Given the description of an element on the screen output the (x, y) to click on. 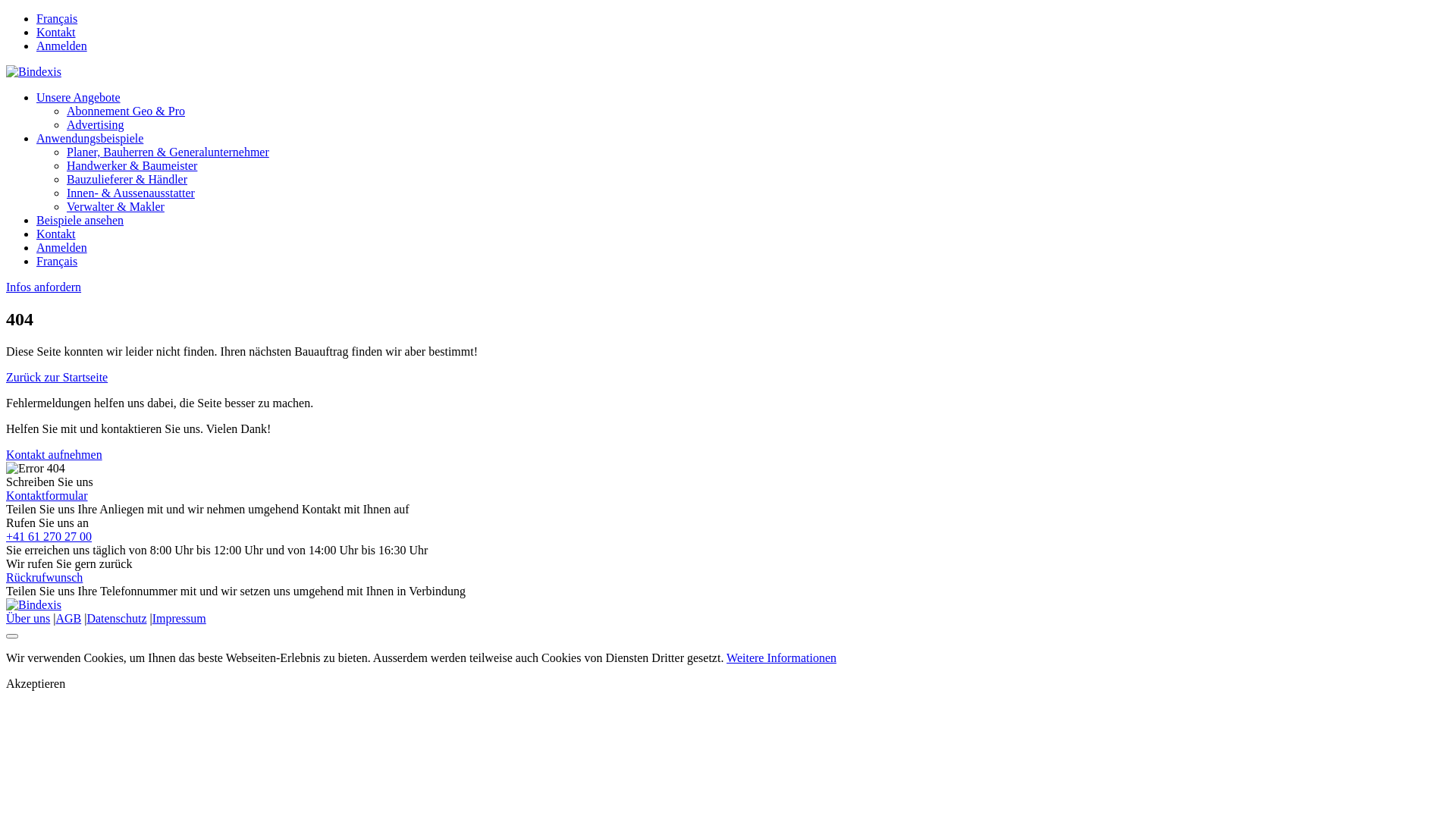
Anmelden Element type: text (61, 247)
Advertising Element type: text (95, 124)
Unsere Angebote Element type: text (78, 97)
Kontakt Element type: text (55, 31)
Kontakt Element type: text (55, 233)
Infos anfordern Element type: text (43, 286)
Innen- & Aussenausstatter Element type: text (130, 192)
Akzeptieren Element type: text (35, 683)
+41 61 270 27 00 Element type: text (48, 536)
AGB Element type: text (68, 617)
Anmelden Element type: text (61, 45)
Impressum Element type: text (179, 617)
Planer, Bauherren & Generalunternehmer Element type: text (167, 151)
Kontaktformular Element type: text (46, 495)
Verwalter & Makler Element type: text (115, 206)
Kontakt aufnehmen Element type: text (54, 454)
Weitere Informationen Element type: text (781, 657)
Handwerker & Baumeister Element type: text (131, 165)
Beispiele ansehen Element type: text (79, 219)
Datenschutz Element type: text (116, 617)
Anwendungsbeispiele Element type: text (89, 137)
Abonnement Geo & Pro Element type: text (125, 110)
